Given the description of an element on the screen output the (x, y) to click on. 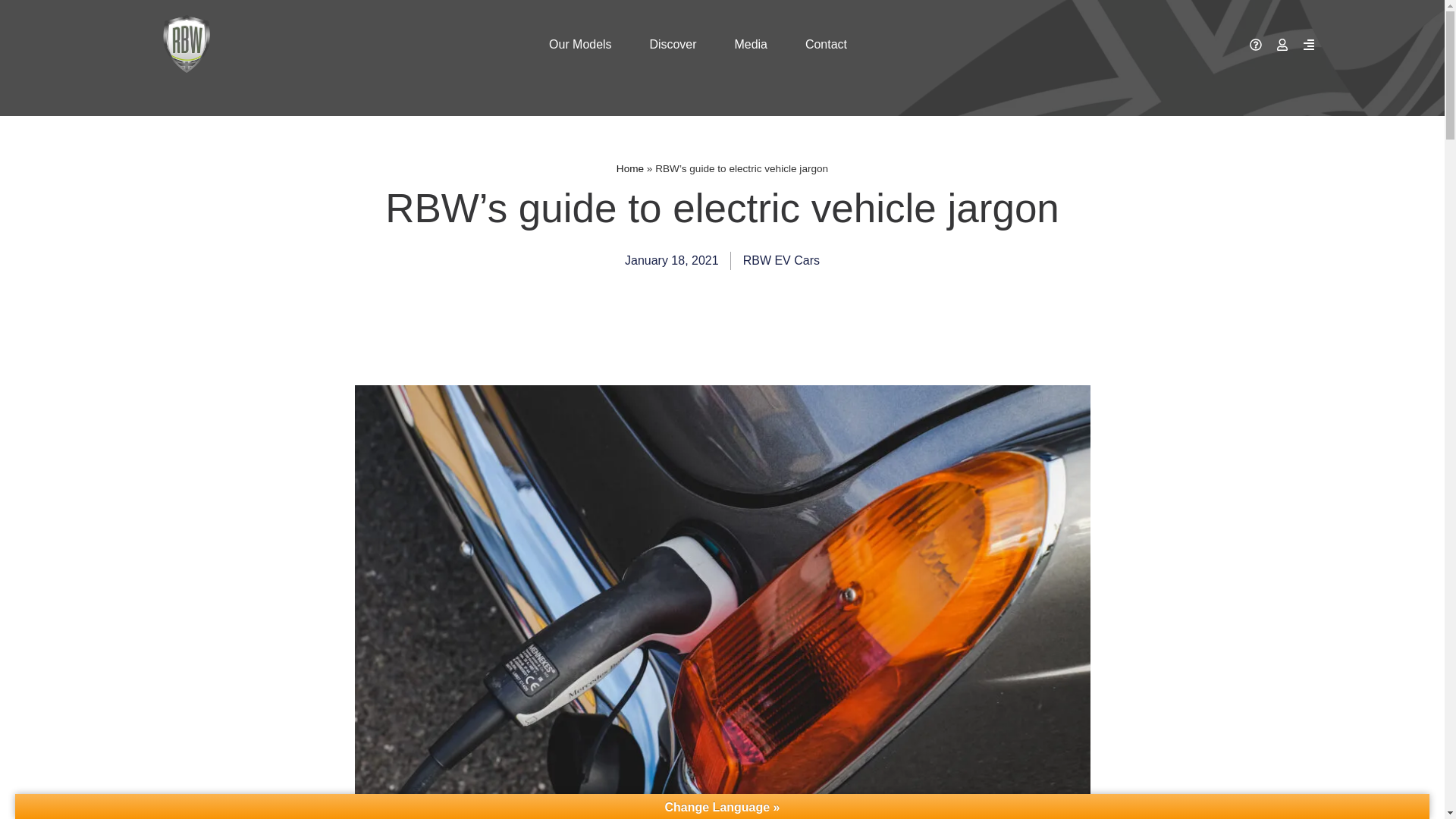
Contact (826, 44)
Our Models (579, 44)
Discover (673, 44)
Home (629, 168)
Media (751, 44)
